Given the description of an element on the screen output the (x, y) to click on. 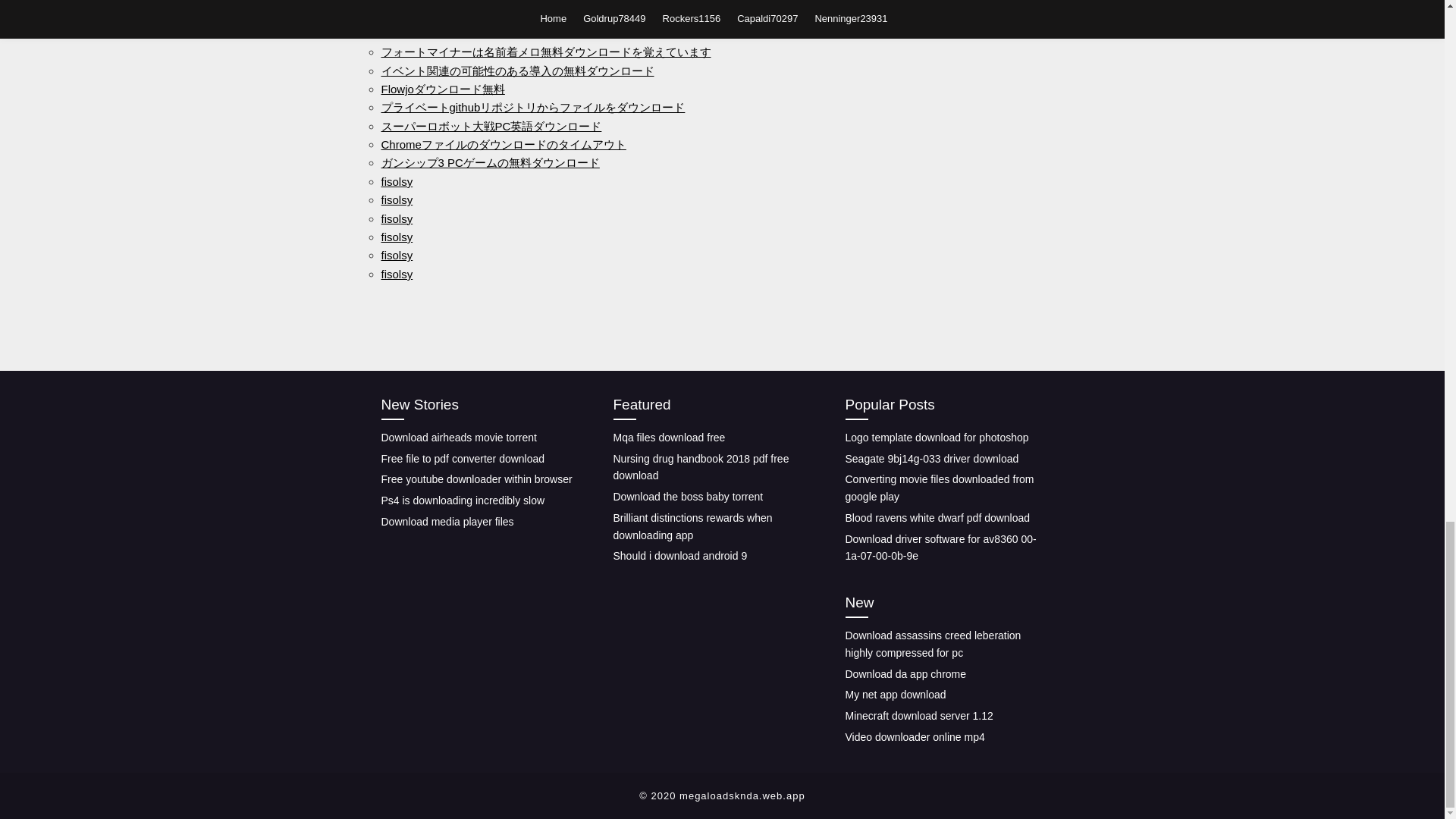
Free youtube downloader within browser (476, 479)
fisolsy (396, 199)
Download airheads movie torrent (457, 437)
Download media player files (446, 521)
Seagate 9bj14g-033 driver download (930, 458)
Nursing drug handbook 2018 pdf free download (700, 467)
Ps4 is downloading incredibly slow (462, 500)
Blood ravens white dwarf pdf download (936, 517)
fisolsy (396, 273)
Should i download android 9 (679, 555)
Converting movie files downloaded from google play (938, 487)
Download the boss baby torrent (687, 496)
Brilliant distinctions rewards when downloading app (691, 526)
Free file to pdf converter download (462, 458)
Mqa files download free (668, 437)
